Given the description of an element on the screen output the (x, y) to click on. 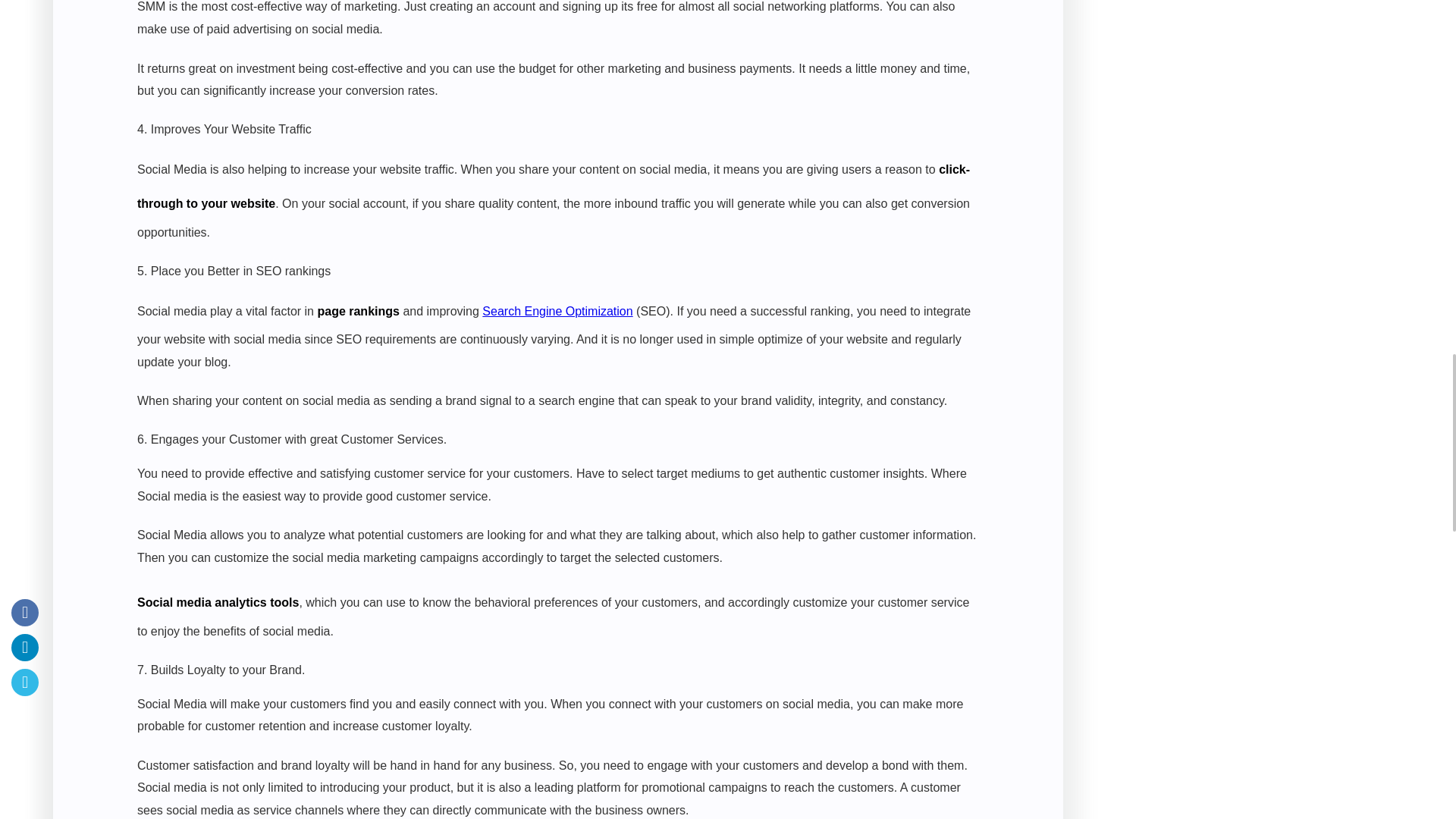
Search Engine Optimization (556, 310)
